Given the description of an element on the screen output the (x, y) to click on. 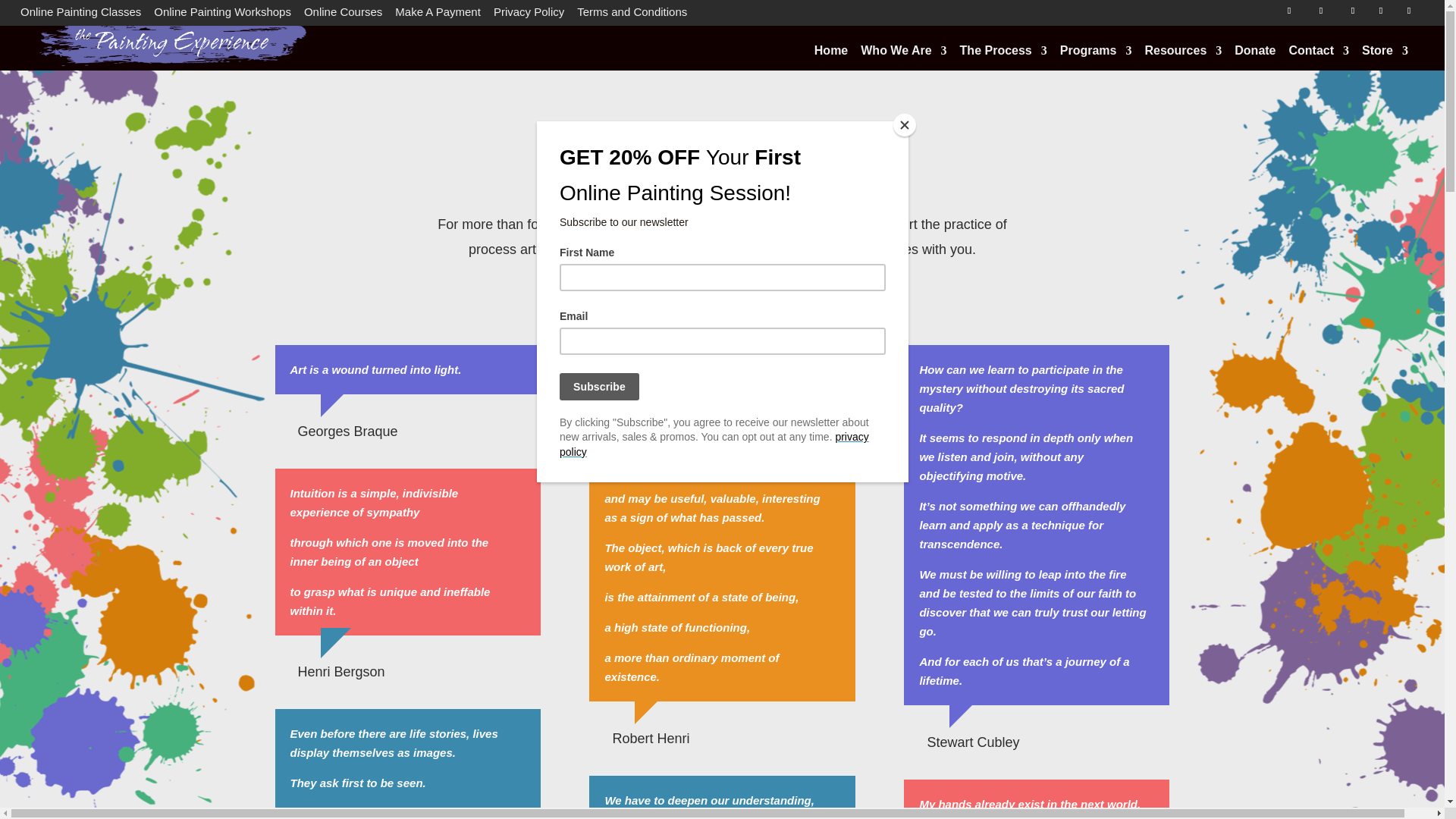
Online Courses (342, 15)
Online Painting Workshops (222, 15)
Follow on Pinterest (1380, 10)
Programs (1095, 53)
Online Painting Classes (80, 15)
Click here to open Popup (722, 290)
Follow on Instagram (1409, 10)
Terms and Conditions (631, 15)
Who We Are (903, 53)
Make A Payment (437, 15)
Follow on Youtube (1320, 10)
The Process (1002, 53)
Follow on Facebook (1288, 10)
Privacy Policy (528, 15)
Follow on LinkedIn (1352, 10)
